Given the description of an element on the screen output the (x, y) to click on. 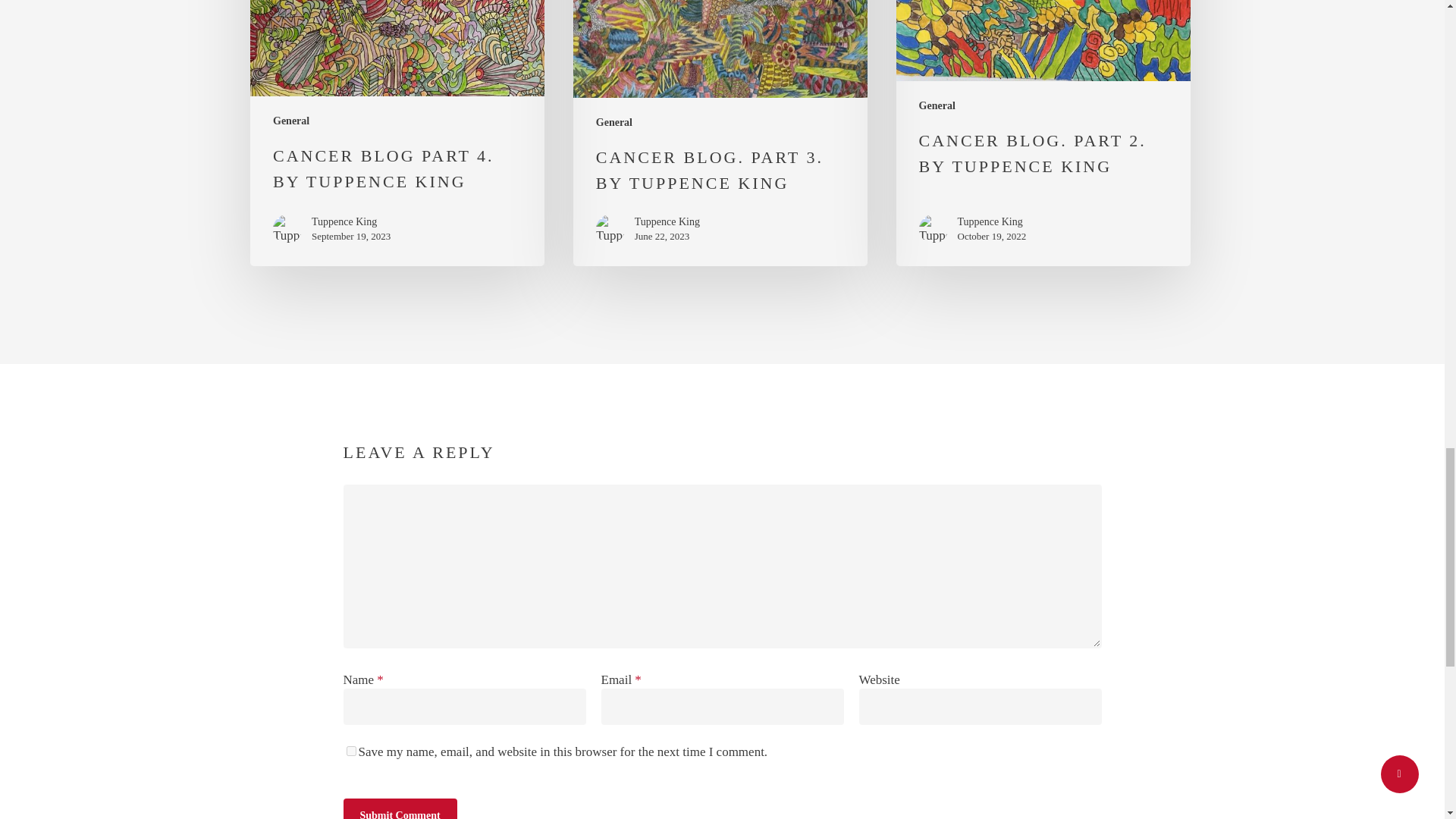
General (290, 120)
Submit Comment (399, 808)
Tuppence King (350, 222)
yes (350, 750)
General (613, 122)
